Given the description of an element on the screen output the (x, y) to click on. 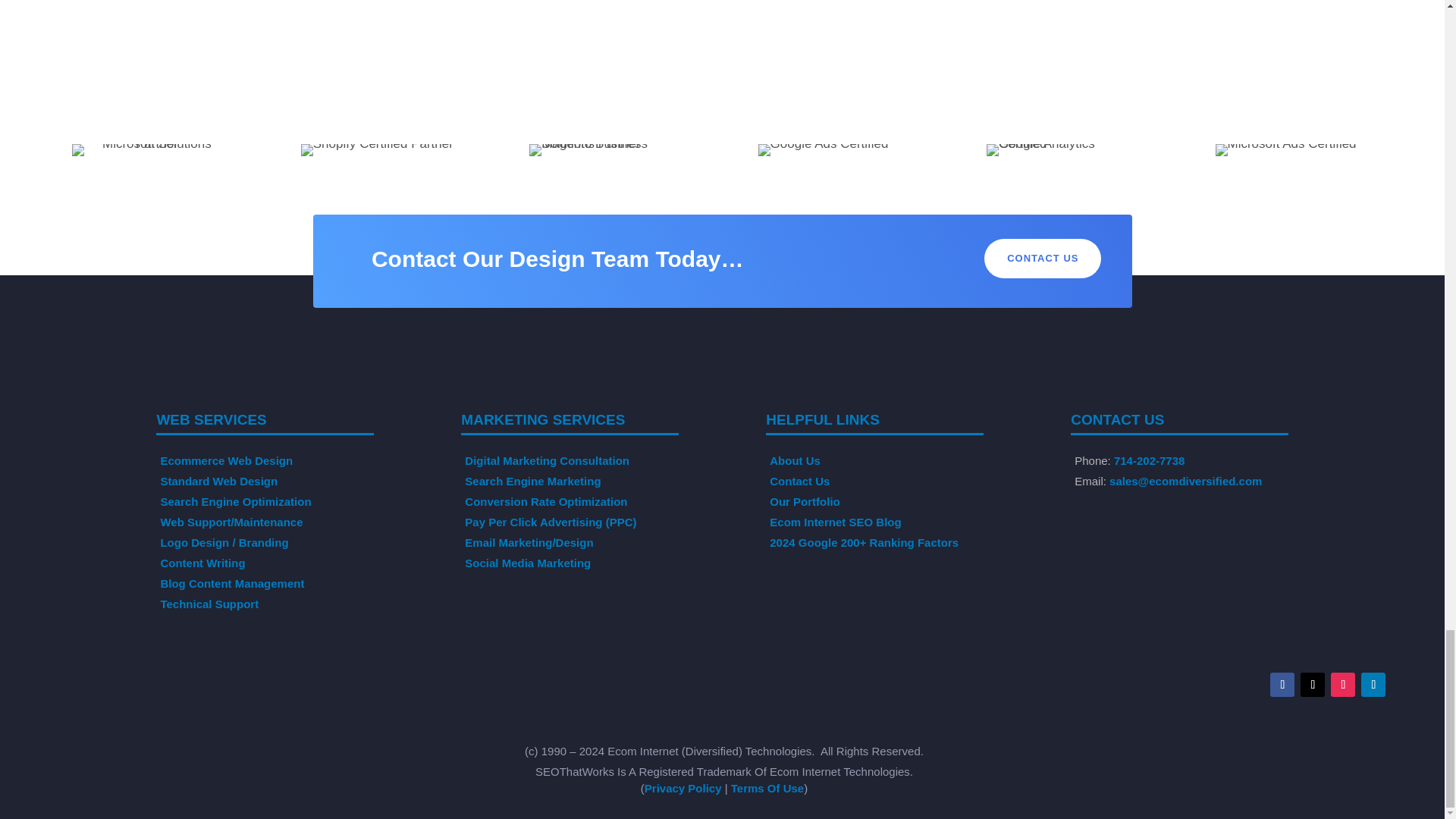
Follow on X (1312, 684)
Shopify Certified Partner (376, 149)
Social Media Marketing (527, 562)
Our Portfolio (805, 501)
CONTACT US (1042, 258)
Blog Content Management (232, 583)
Search Engine Optimization (235, 501)
Contact Us (799, 481)
Ecom Internet SEO Blog (835, 521)
About Us (795, 460)
